Given the description of an element on the screen output the (x, y) to click on. 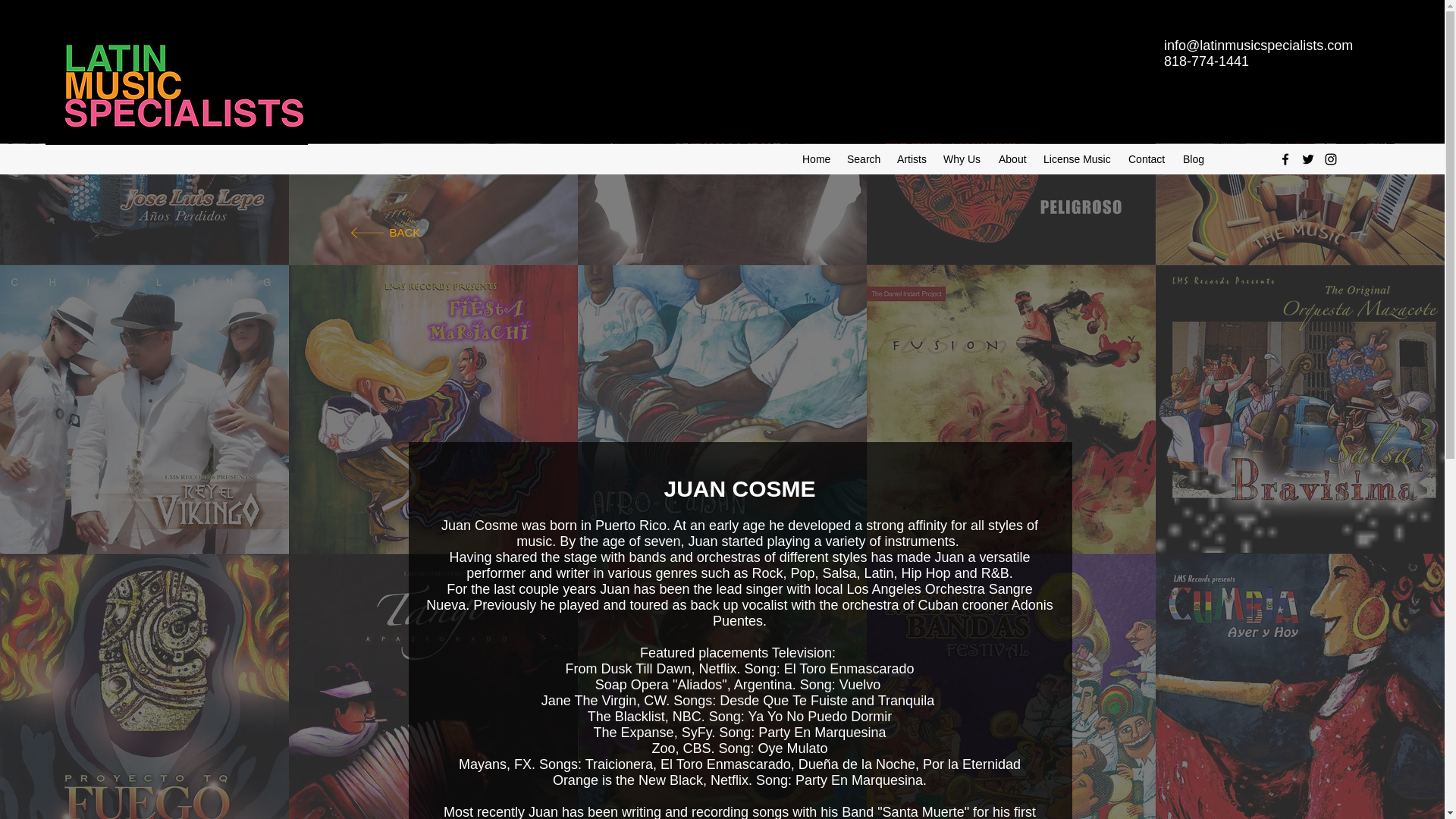
Artists (912, 159)
License Music (1078, 159)
Blog (1193, 159)
Why Us (963, 159)
Home (817, 159)
818-774-1441 (1206, 61)
LATIN MUSIC SPECIALISTS (182, 41)
LMS.png (176, 85)
Contact (1147, 159)
About (1013, 159)
